Given the description of an element on the screen output the (x, y) to click on. 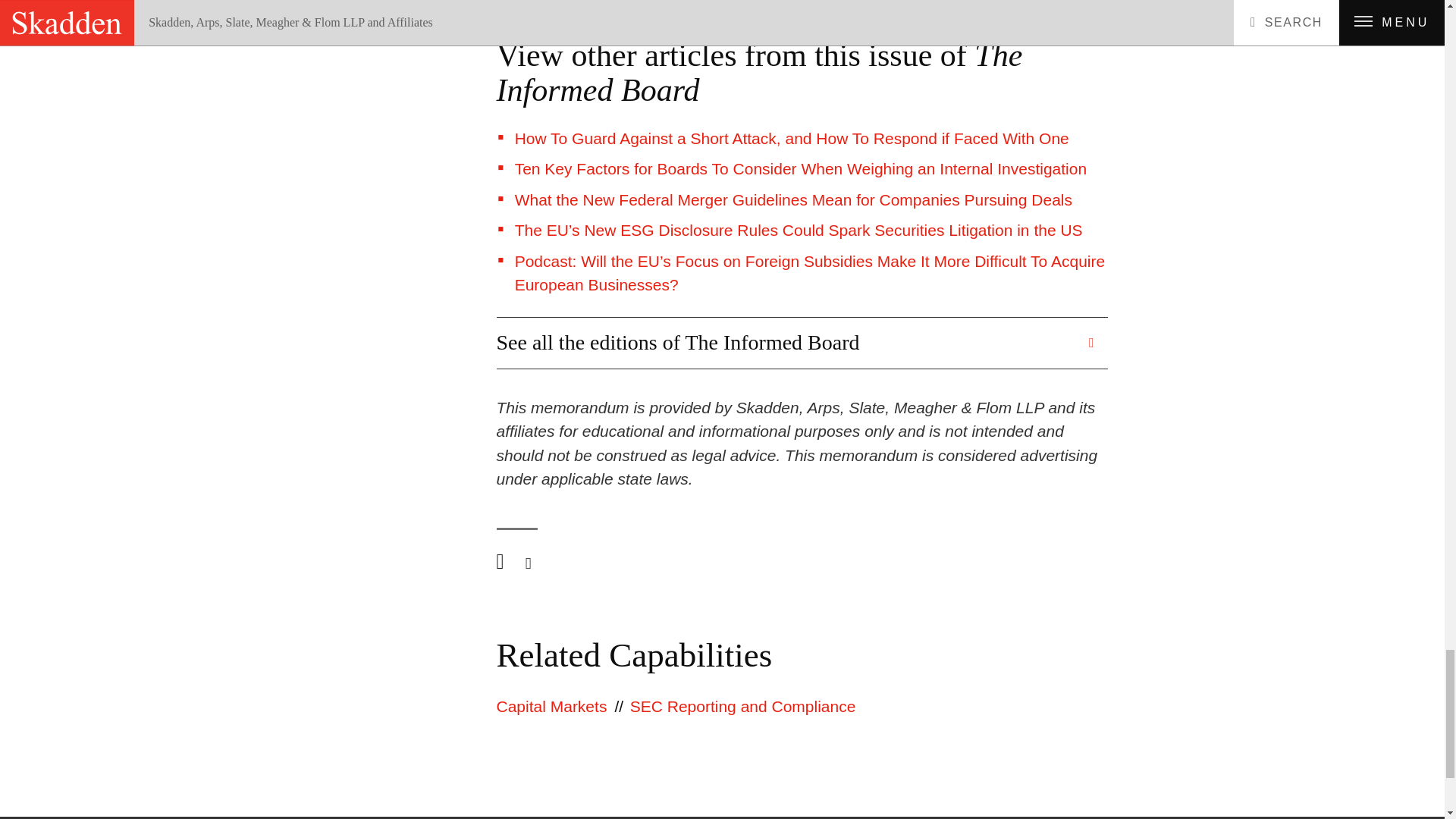
See all the editions of The Informed Board (787, 342)
SEC Reporting and Compliance (743, 706)
Capital Markets (551, 706)
